Given the description of an element on the screen output the (x, y) to click on. 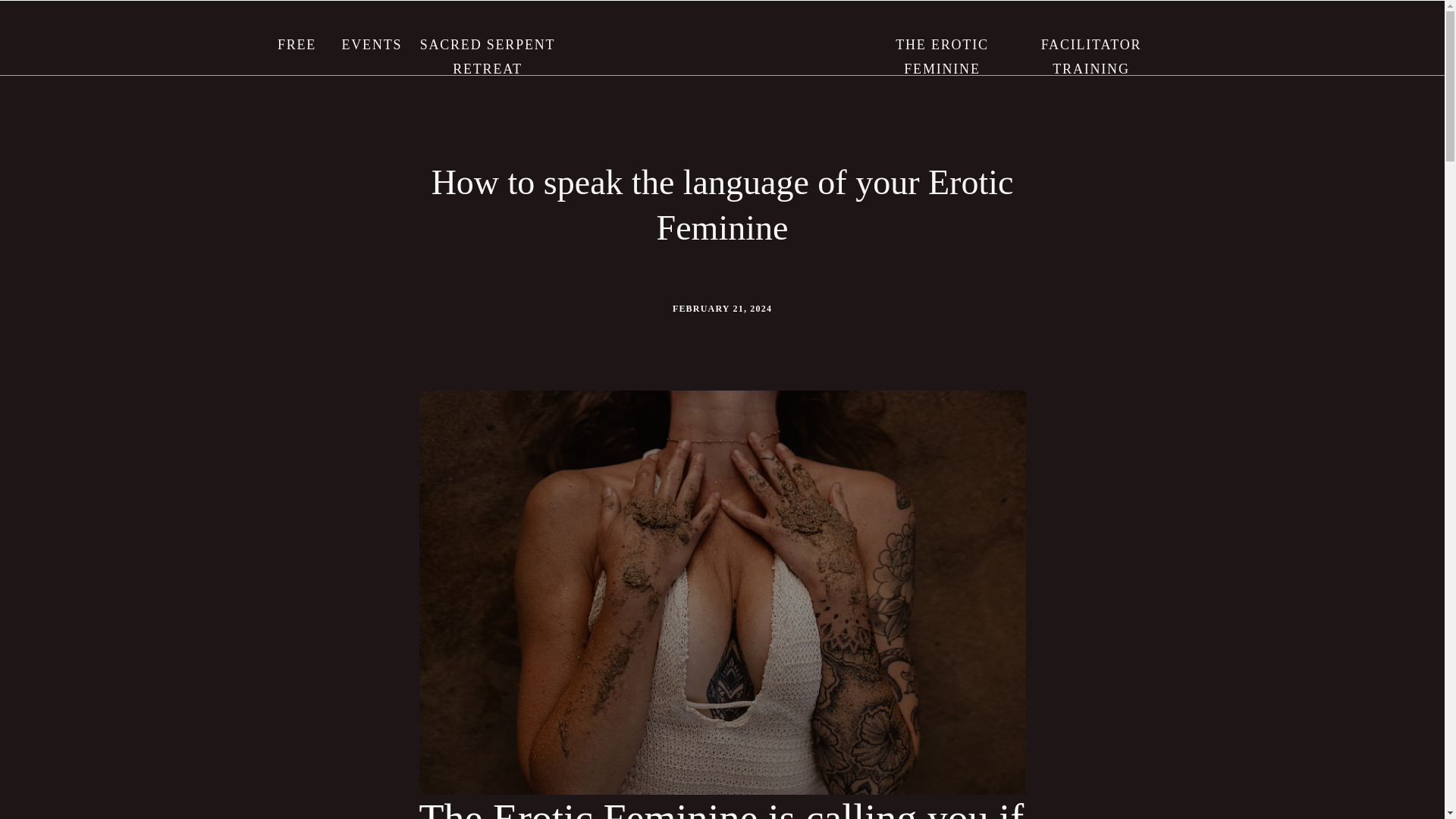
SACRED SERPENT RETREAT (487, 43)
FACILITATOR TRAINING (1090, 43)
EVENTS (370, 43)
THE EROTIC FEMININE (942, 43)
FREE (296, 43)
